Given the description of an element on the screen output the (x, y) to click on. 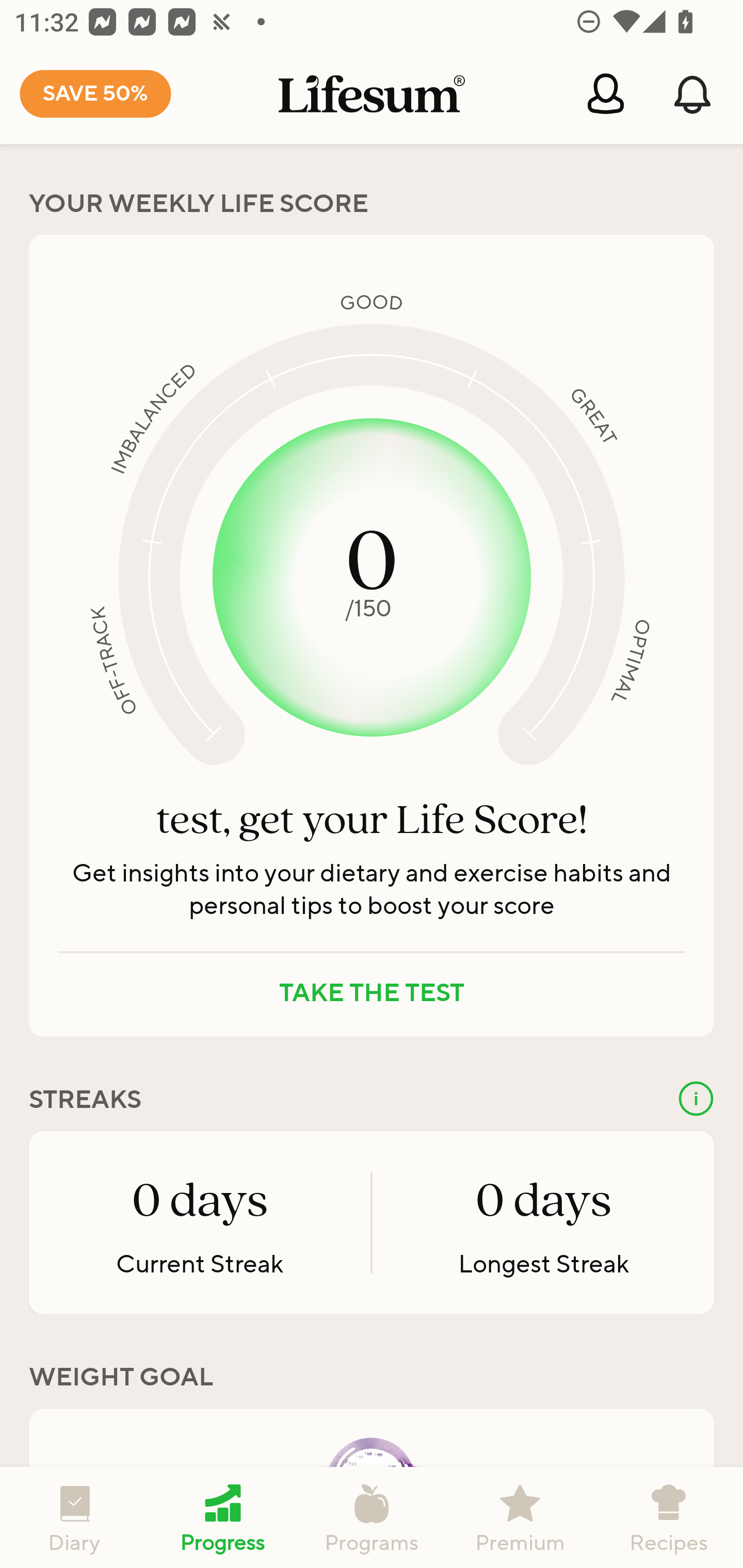
TAKE THE TEST (371, 993)
Diary (74, 1517)
Programs (371, 1517)
Premium (519, 1517)
Recipes (668, 1517)
